Given the description of an element on the screen output the (x, y) to click on. 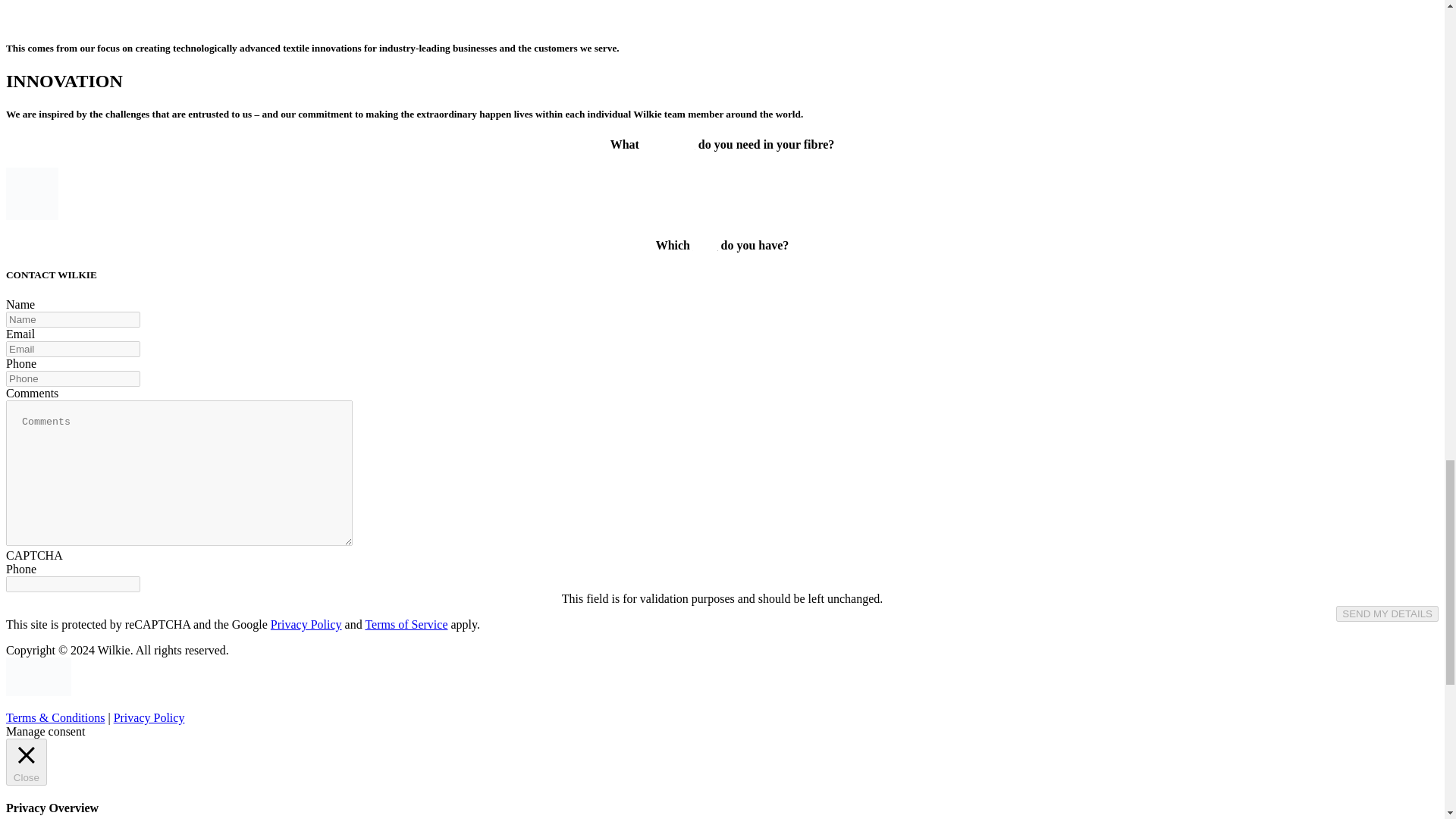
wilkie-logo (38, 676)
properties (668, 144)
Privacy Policy (306, 624)
Terms of Service (405, 624)
fibre (705, 245)
Privacy Policy (148, 717)
